Given the description of an element on the screen output the (x, y) to click on. 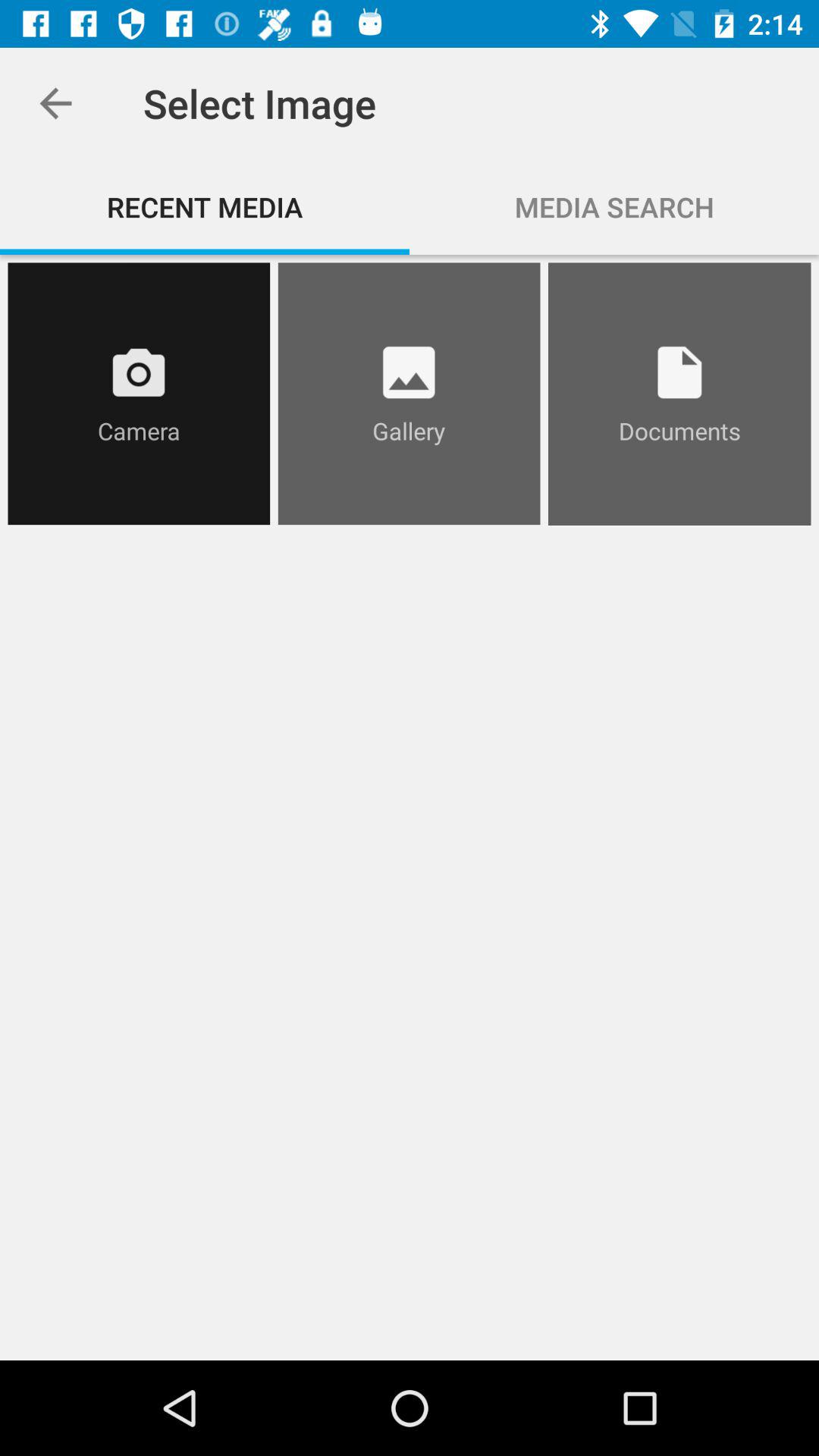
choose the icon next to media search icon (204, 206)
